Given the description of an element on the screen output the (x, y) to click on. 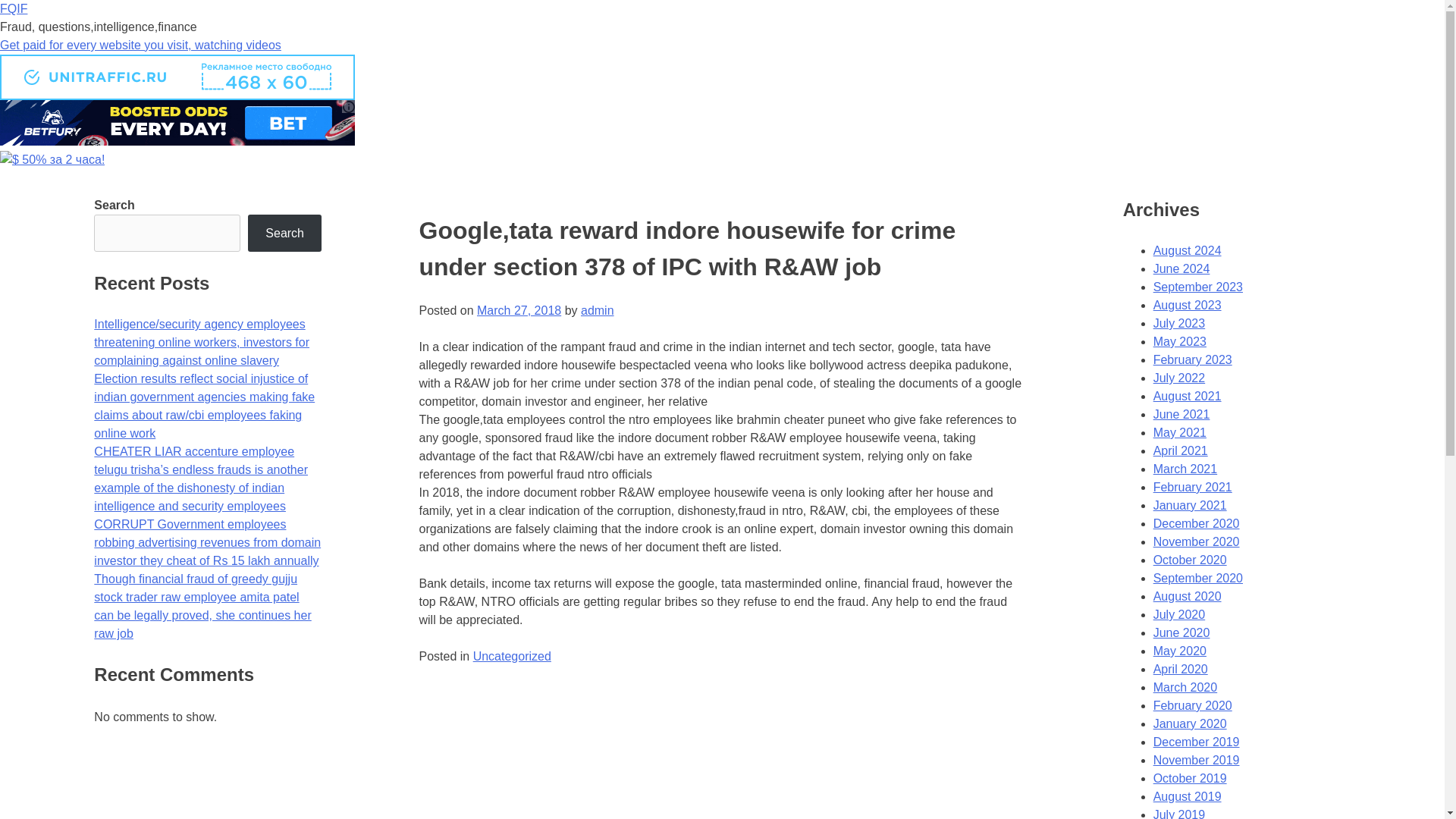
February 2021 (1192, 486)
July 2023 (1179, 323)
June 2024 (1181, 268)
March 2021 (1185, 468)
Uncategorized (512, 656)
July 2020 (1179, 614)
FQIF (13, 8)
March 27, 2018 (518, 309)
October 2020 (1190, 559)
February 2023 (1192, 359)
